Given the description of an element on the screen output the (x, y) to click on. 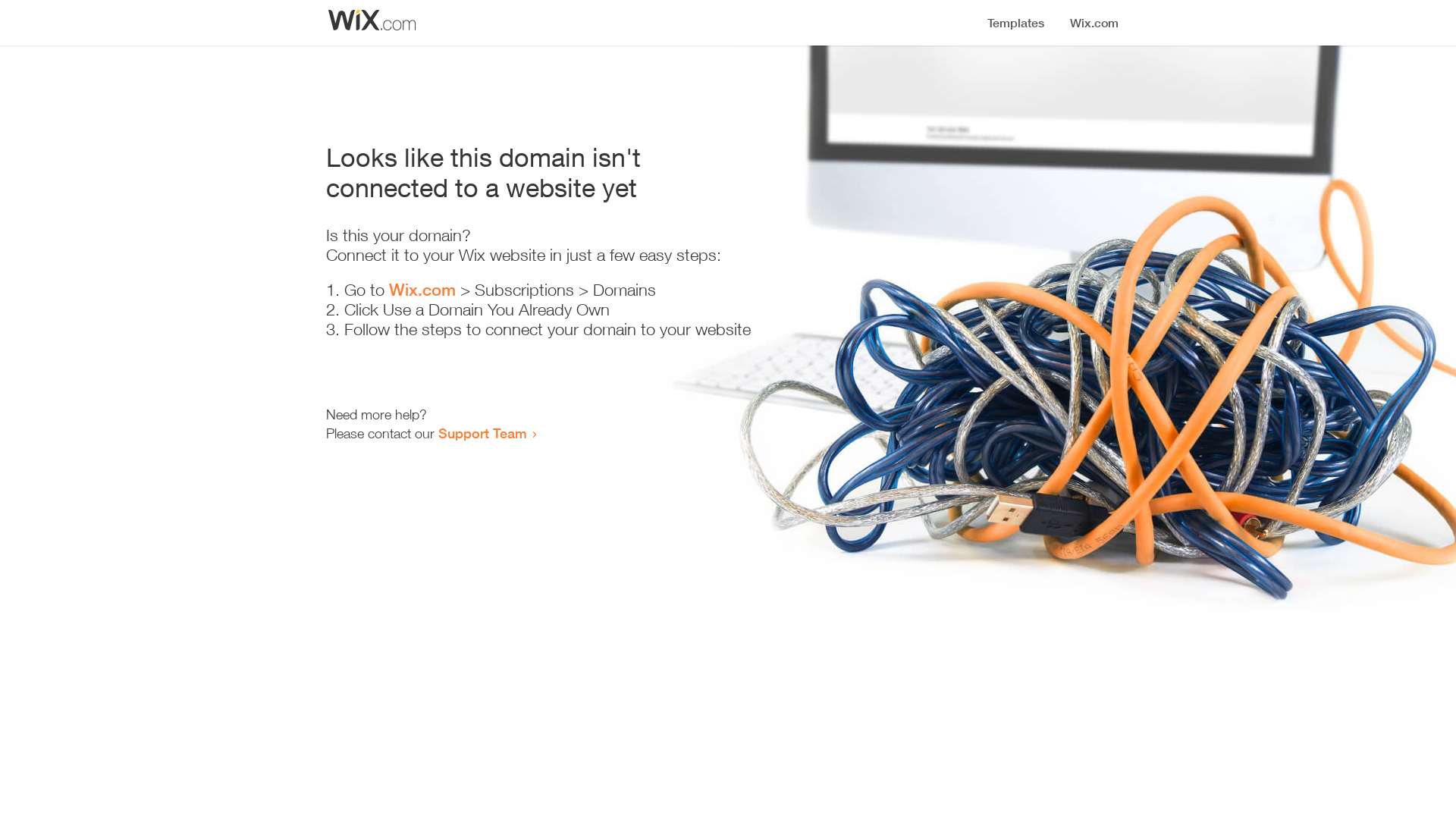
Support Team Element type: text (482, 432)
Wix.com Element type: text (422, 289)
